Given the description of an element on the screen output the (x, y) to click on. 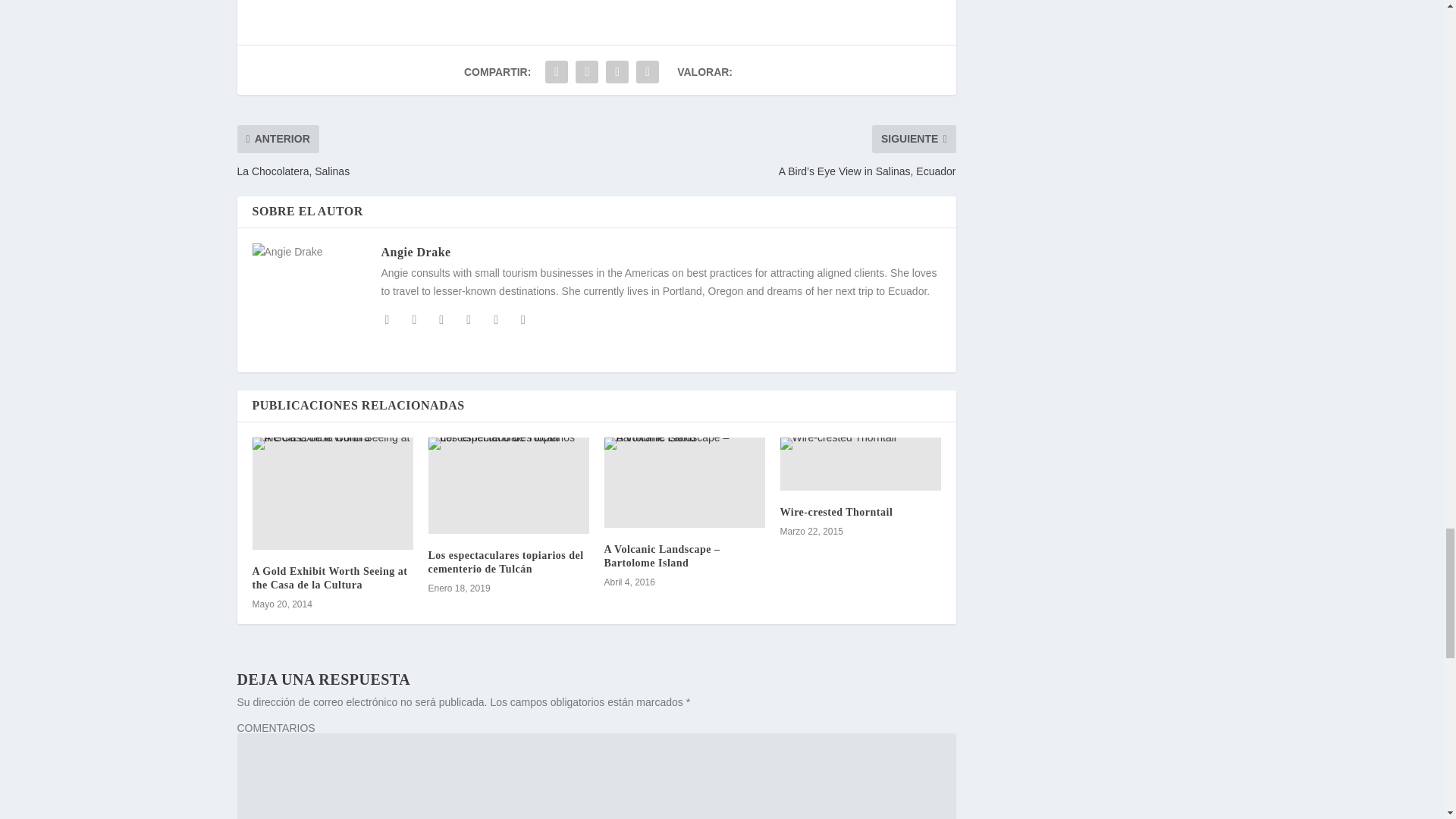
Wire-crested Thorntail (859, 464)
A Gold Exhibit Worth Seeing at the Casa de la Cultura (331, 493)
Ver todas las publicaciones de Angie Drake (414, 251)
